Given the description of an element on the screen output the (x, y) to click on. 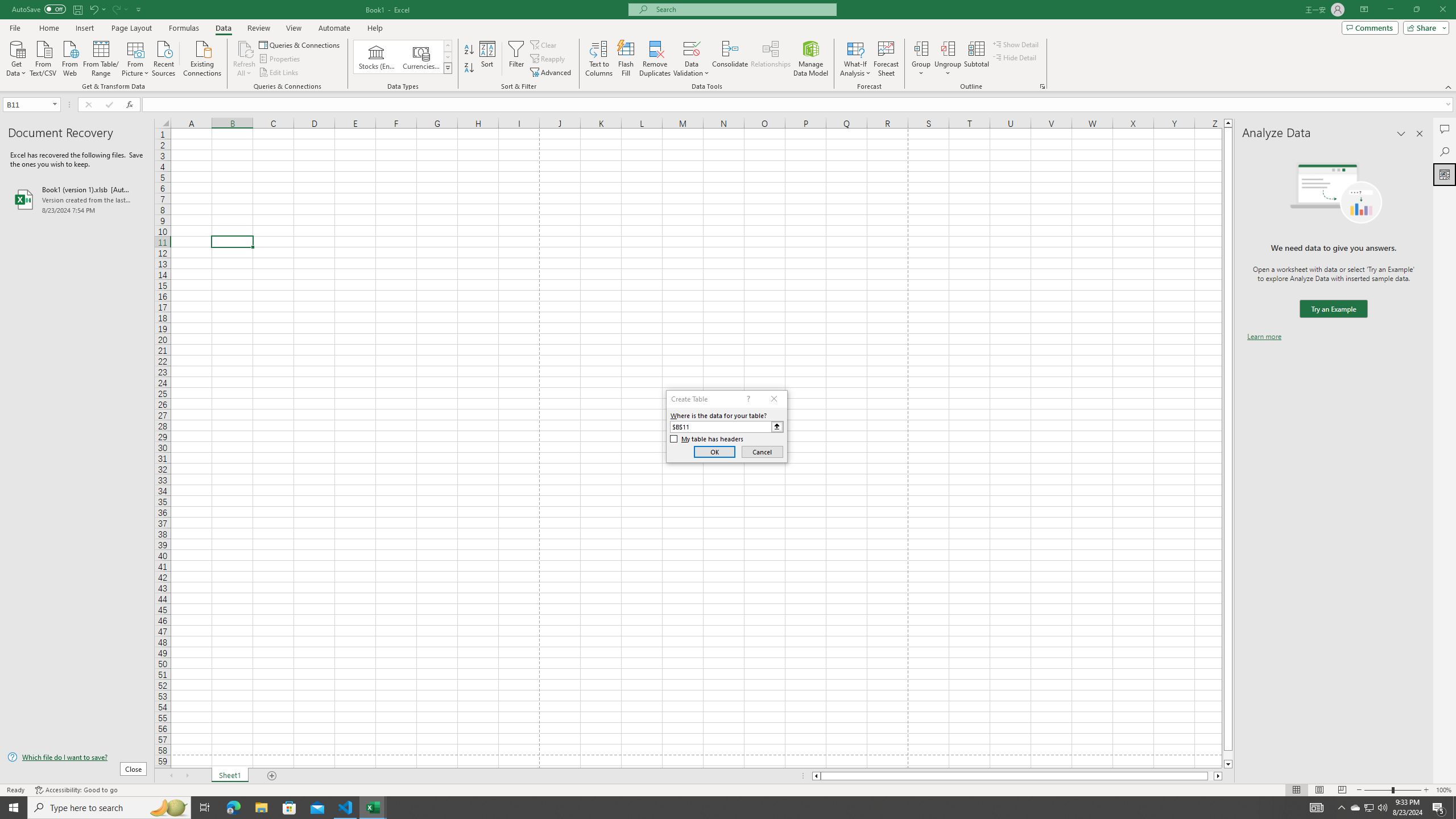
Stocks (English) (375, 56)
Sheet1 (229, 775)
Advanced... (551, 72)
Flash Fill (625, 58)
Accessibility Checker Accessibility: Good to go (76, 790)
Comments (1369, 27)
From Web (69, 57)
Page right (1211, 775)
Normal (1296, 790)
From Text/CSV (43, 57)
Automate (334, 28)
Task Pane Options (1400, 133)
Analyze Data (1444, 173)
Customize Quick Access Toolbar (139, 9)
